Given the description of an element on the screen output the (x, y) to click on. 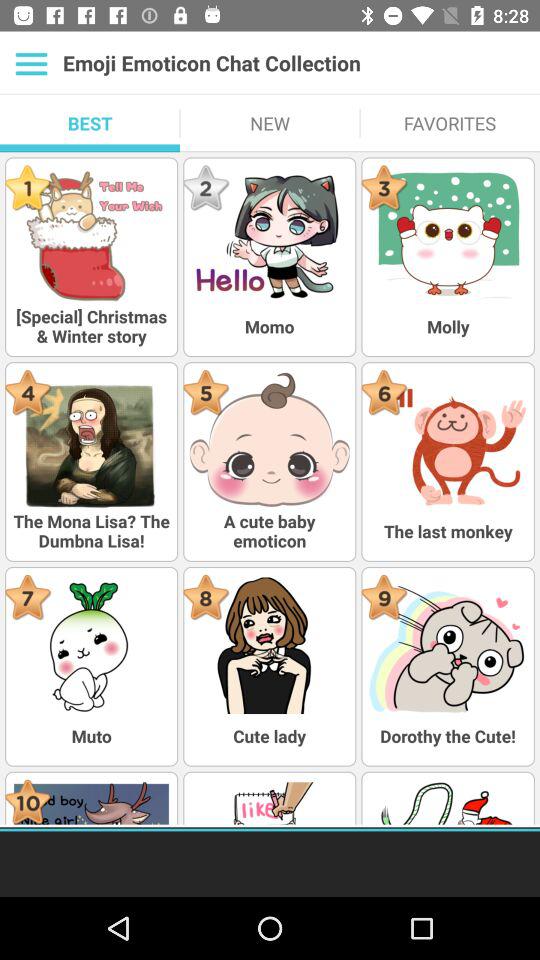
click app above best item (31, 63)
